Given the description of an element on the screen output the (x, y) to click on. 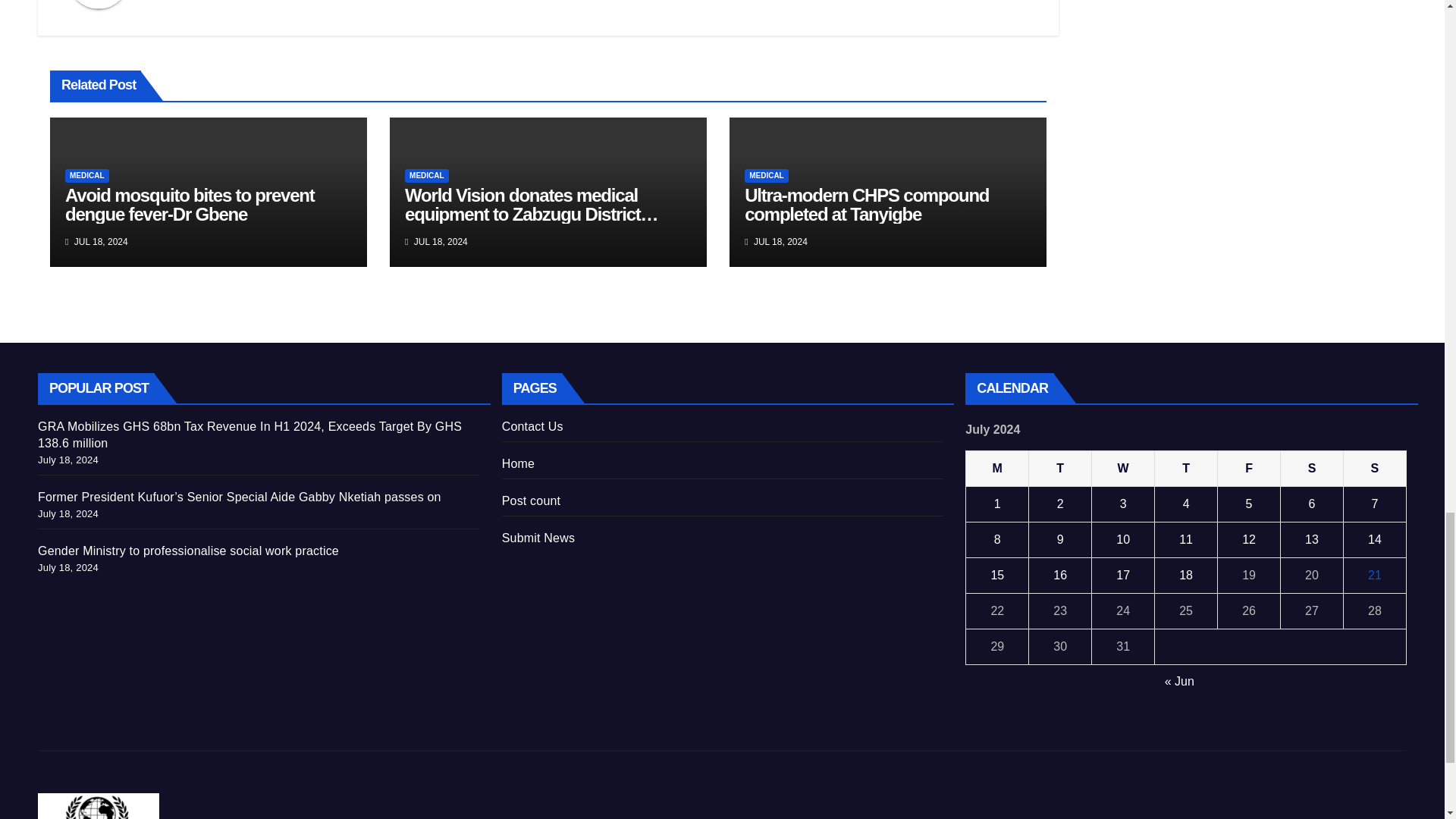
Ultra-modern CHPS compound completed at Tanyigbe (866, 204)
MEDICAL (766, 175)
MEDICAL (87, 175)
MEDICAL (426, 175)
Avoid mosquito bites to prevent dengue fever-Dr Gbene (189, 204)
